Given the description of an element on the screen output the (x, y) to click on. 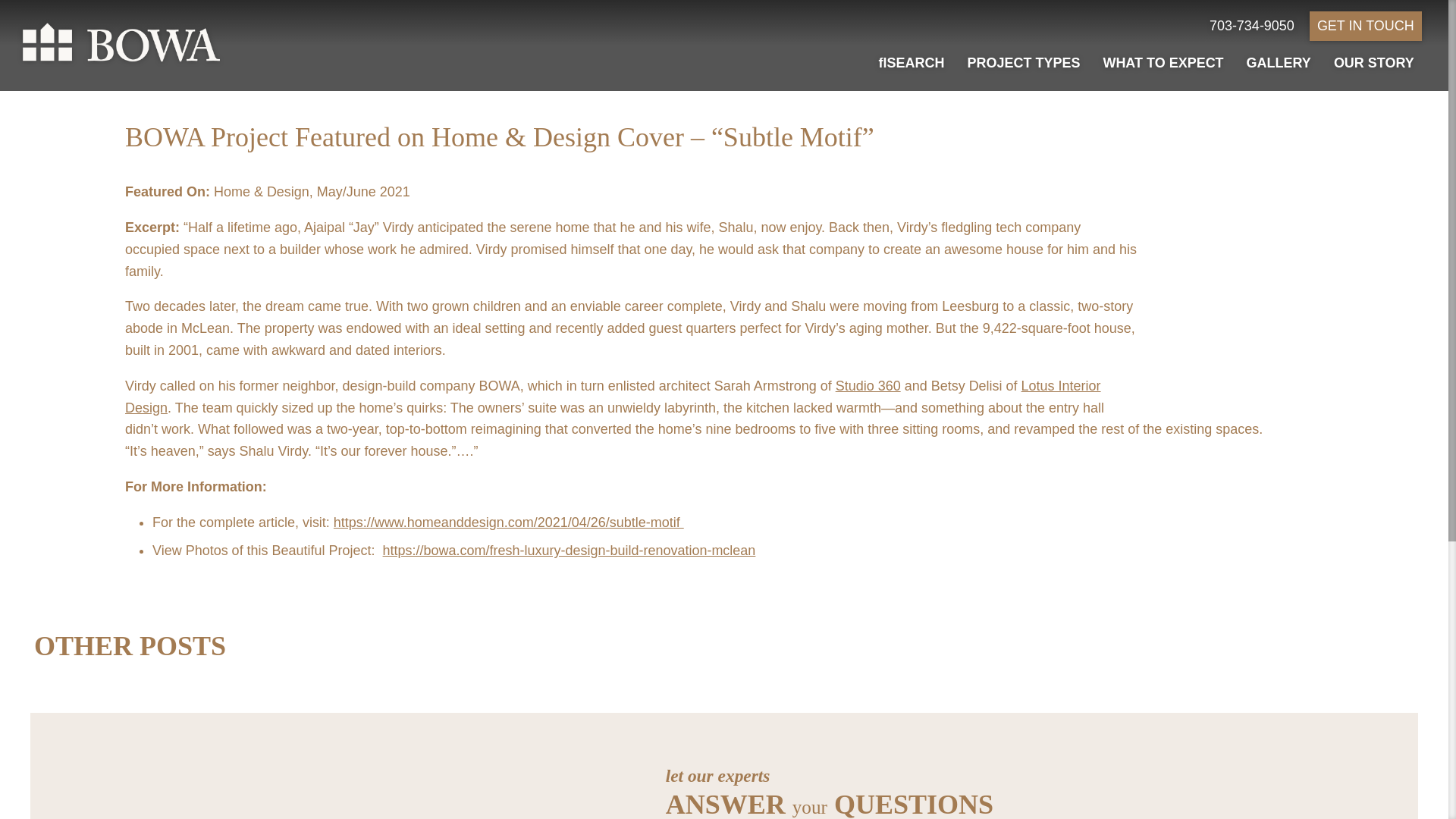
WHAT TO EXPECT (1162, 62)
PROJECT TYPES (1023, 62)
GET IN TOUCH (1365, 25)
Lotus Interior Design (612, 396)
BOWA (121, 42)
OUR STORY (1374, 62)
Studio 360 (868, 385)
SEARCH (911, 62)
703-734-9050 (1251, 25)
GALLERY (1279, 62)
